Given the description of an element on the screen output the (x, y) to click on. 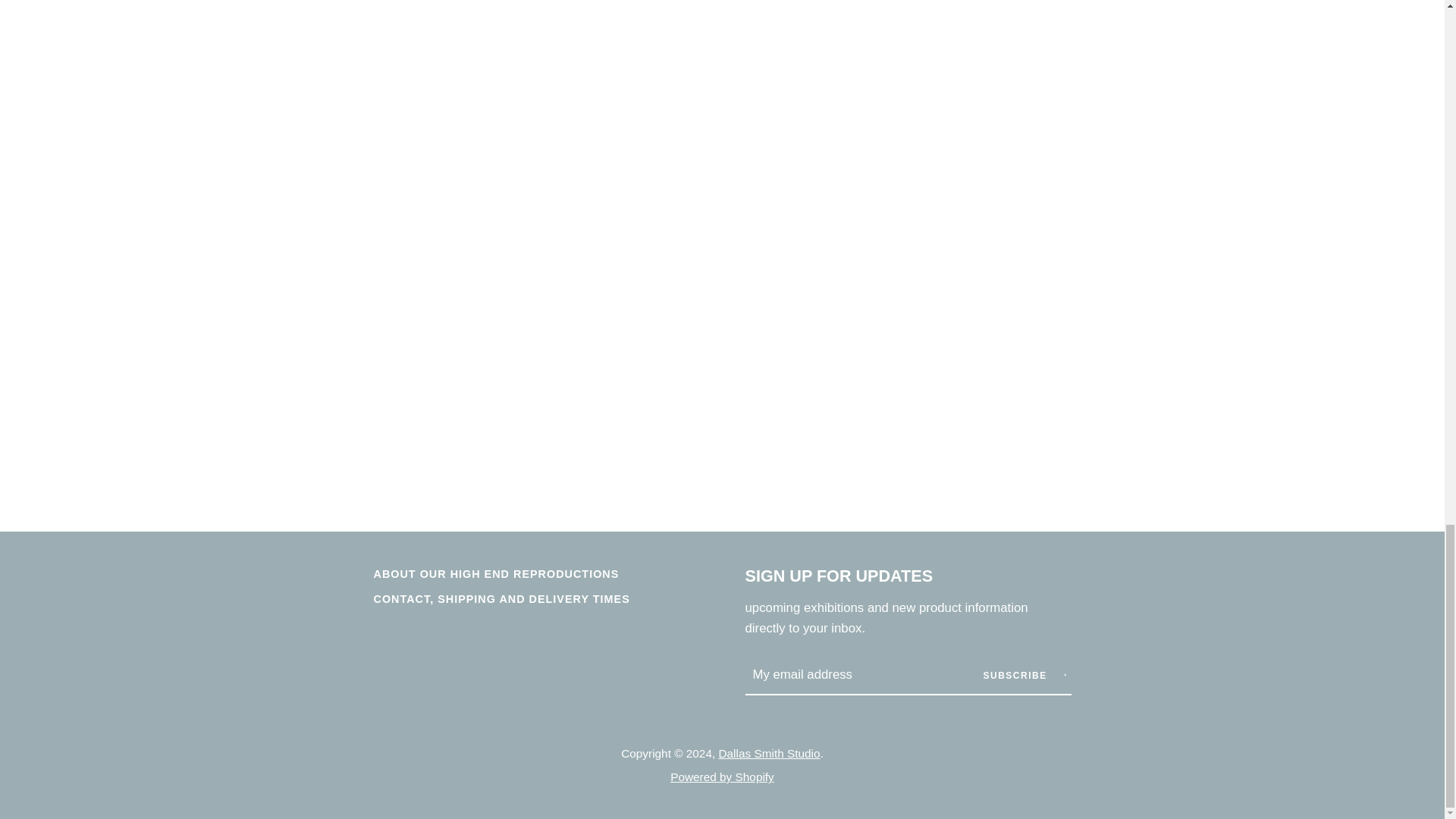
Dallas Smith Studio (768, 753)
CONTACT, SHIPPING AND DELIVERY TIMES (500, 598)
ABOUT OUR HIGH END REPRODUCTIONS (495, 573)
SUBSCRIBE (1023, 675)
Powered by Shopify (721, 776)
